Given the description of an element on the screen output the (x, y) to click on. 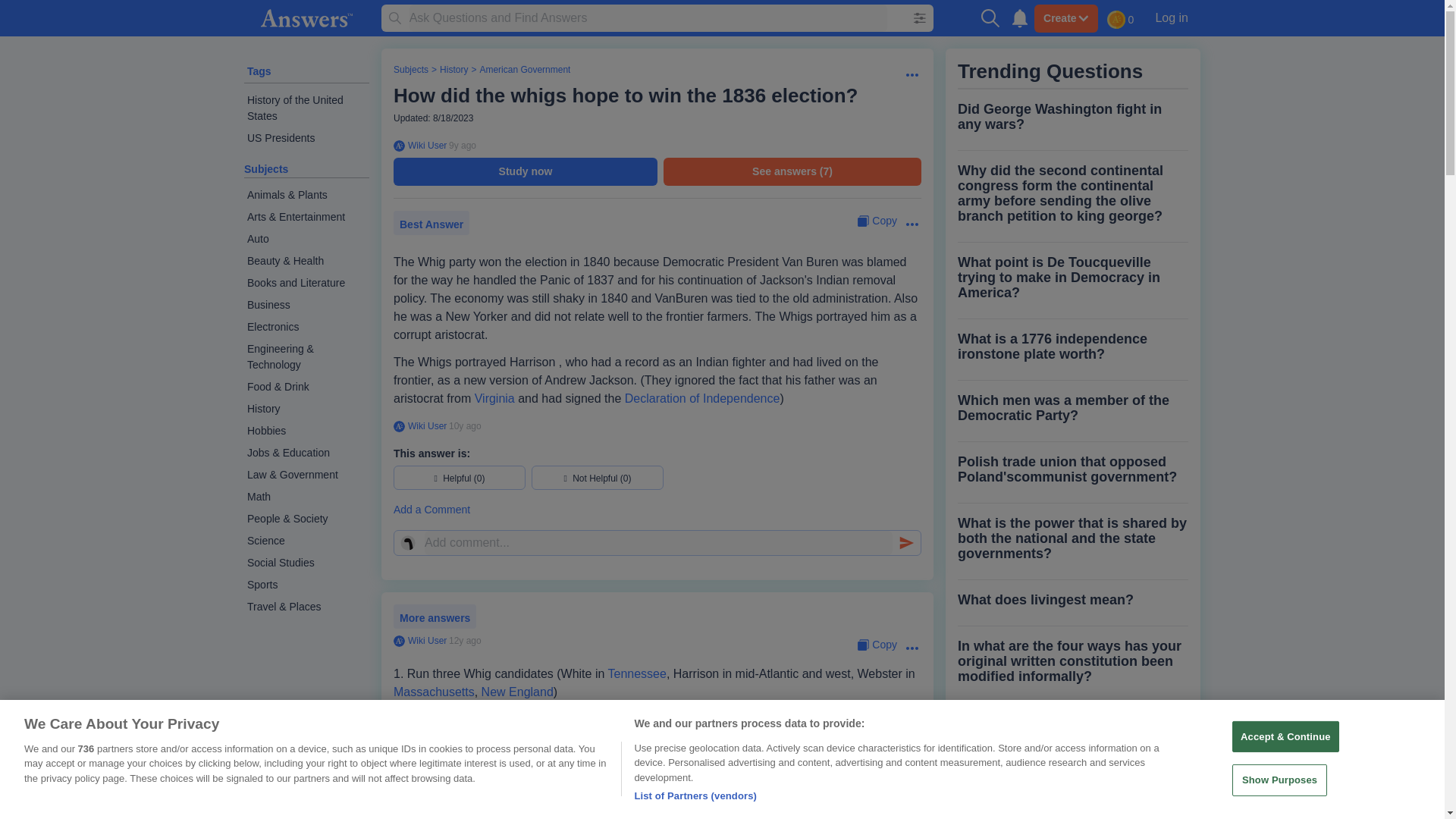
Books and Literature (306, 282)
2012-04-22 22:24:49 (464, 640)
Science (306, 540)
Hobbies (306, 431)
History of the United States (306, 108)
Study now (525, 171)
Virginia (494, 398)
Subjects (410, 69)
Log in (1170, 17)
Create (1065, 18)
Electronics (306, 327)
2014-03-01 20:51:35 (464, 425)
Copy (876, 220)
2014-08-26 21:04:09 (462, 145)
American Government (524, 69)
